Given the description of an element on the screen output the (x, y) to click on. 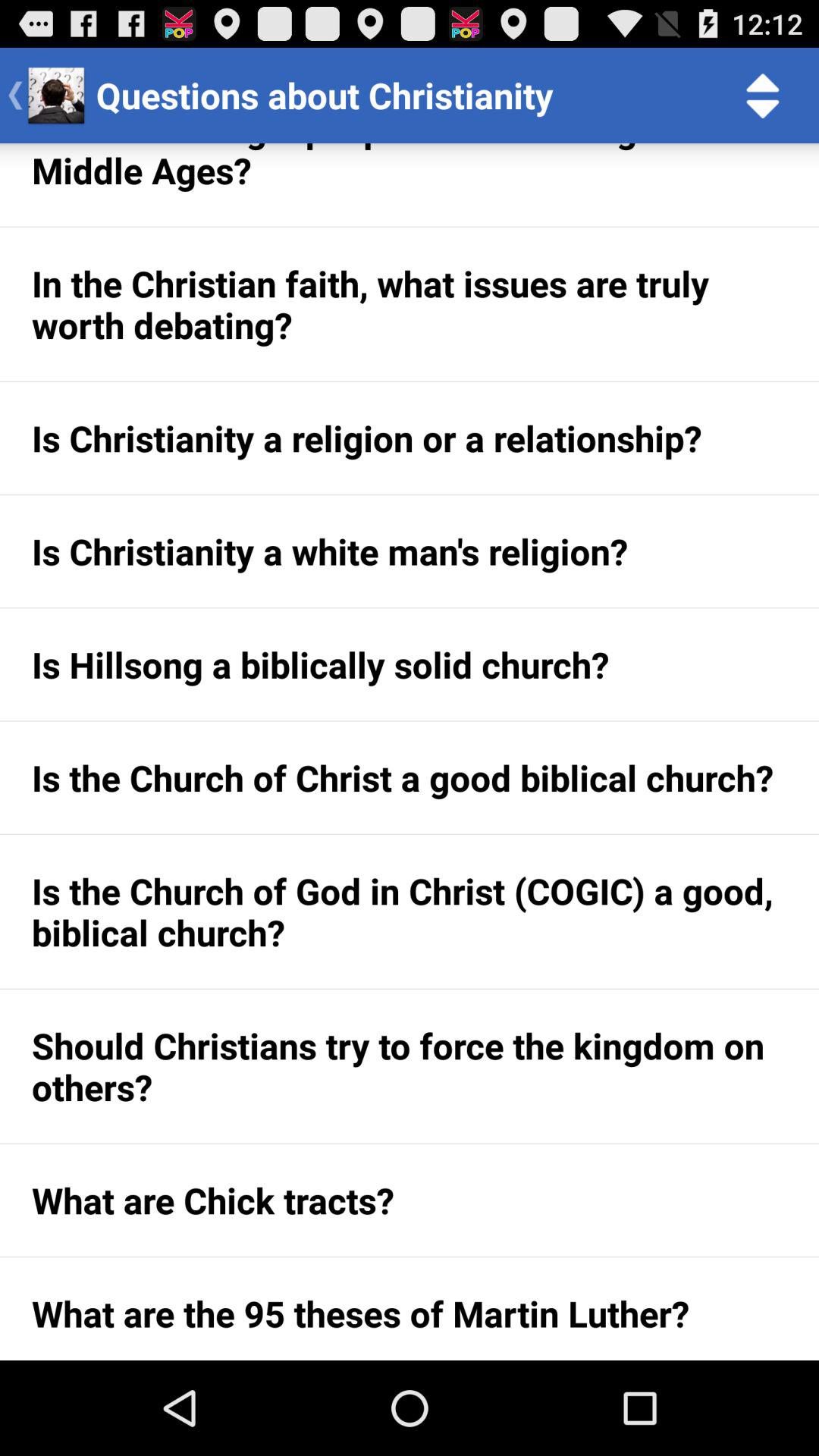
tap icon at the top right corner (763, 95)
